Given the description of an element on the screen output the (x, y) to click on. 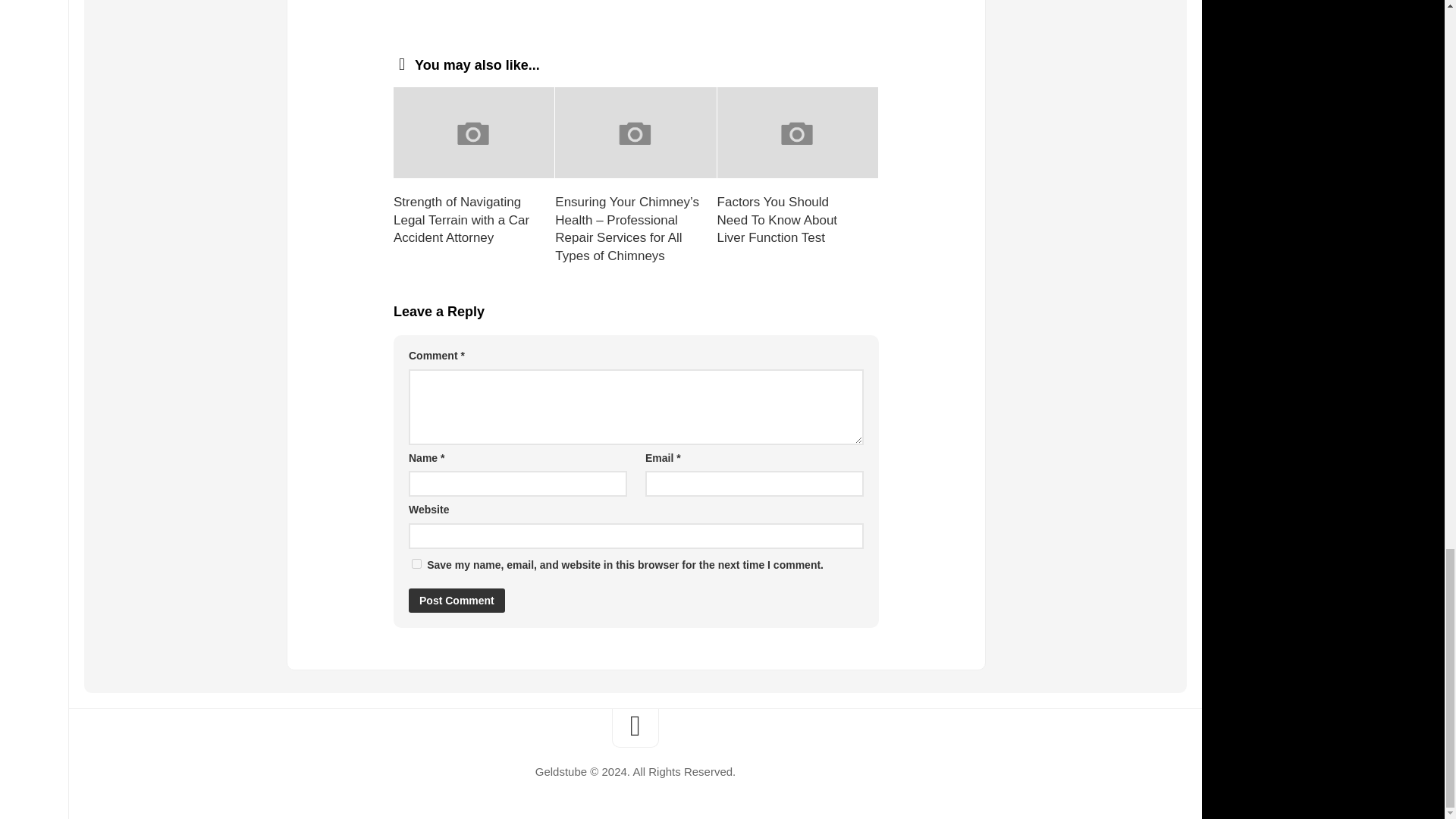
Post Comment (457, 600)
Factors You Should Need To Know About Liver Function Test (777, 219)
Post Comment (457, 600)
yes (417, 563)
